Given the description of an element on the screen output the (x, y) to click on. 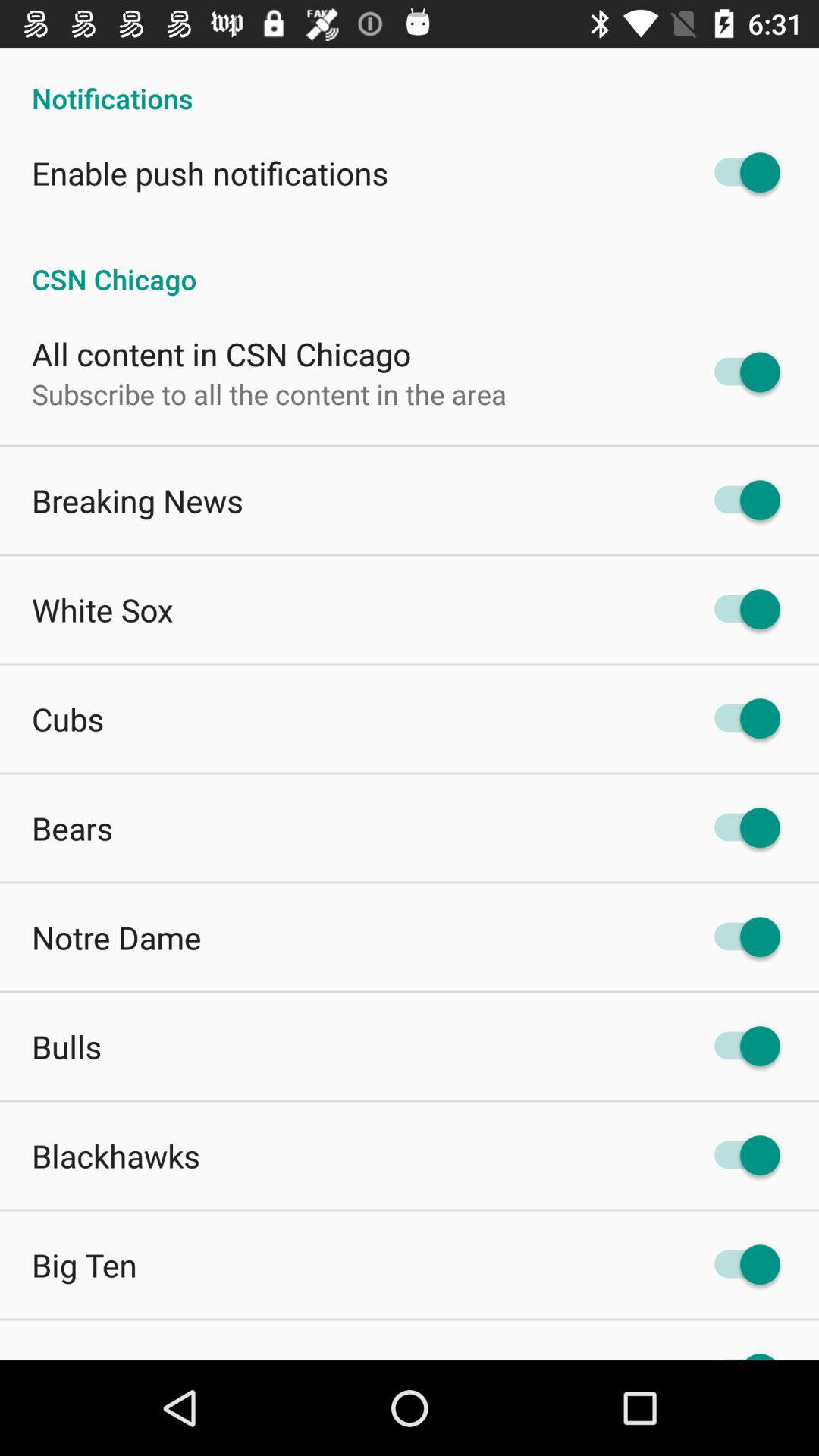
tap app above notre dame (72, 827)
